Given the description of an element on the screen output the (x, y) to click on. 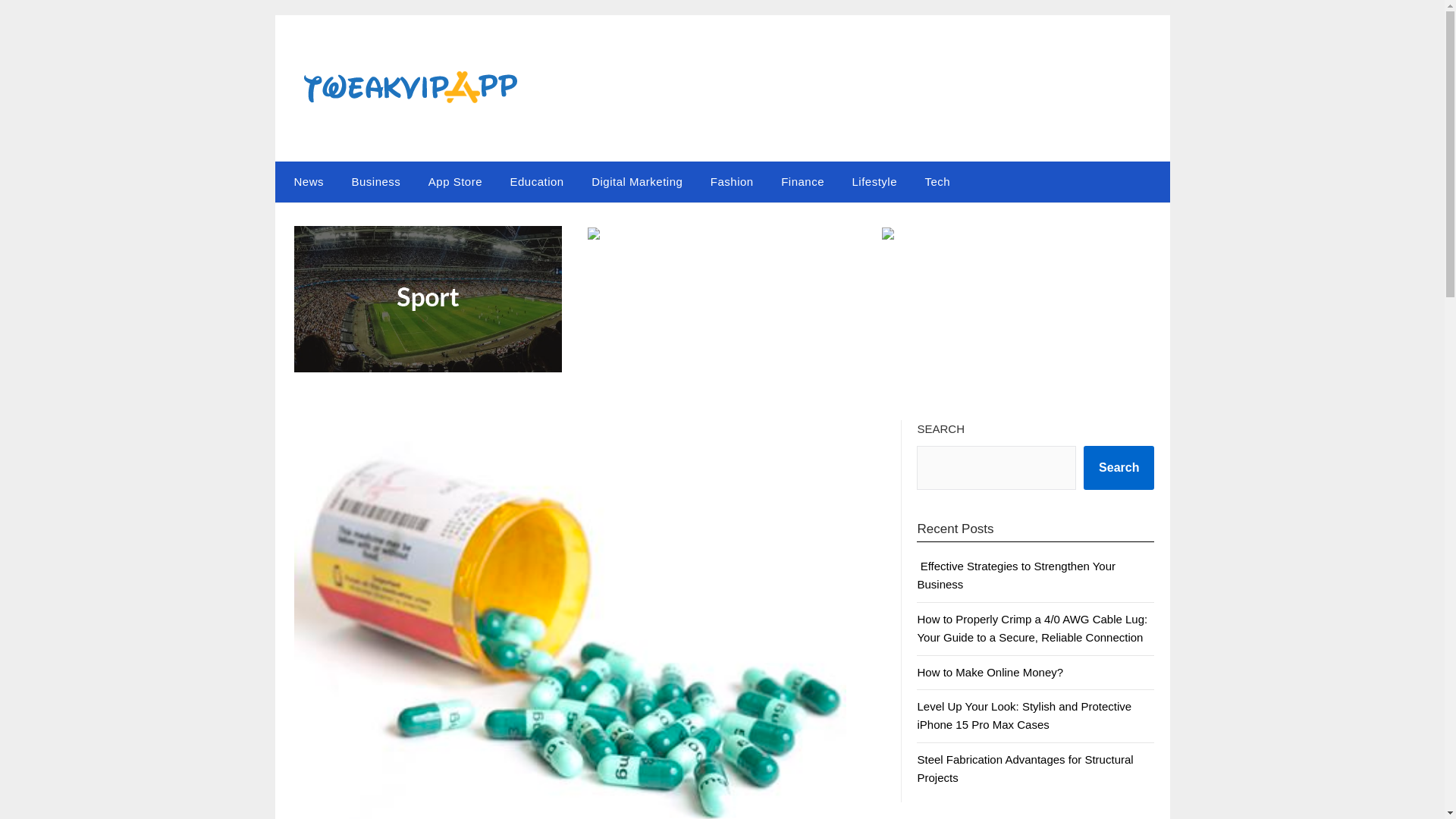
 Effective Strategies to Strengthen Your Business (1016, 574)
Fashion (731, 181)
News (305, 181)
Search (1118, 467)
Digital Marketing (636, 181)
App Store (455, 181)
Steel Fabrication Advantages for Structural Projects (1024, 767)
Education (536, 181)
Lifestyle (874, 181)
Finance (801, 181)
How to Make Online Money? (989, 671)
Tech (937, 181)
Business (375, 181)
